Given the description of an element on the screen output the (x, y) to click on. 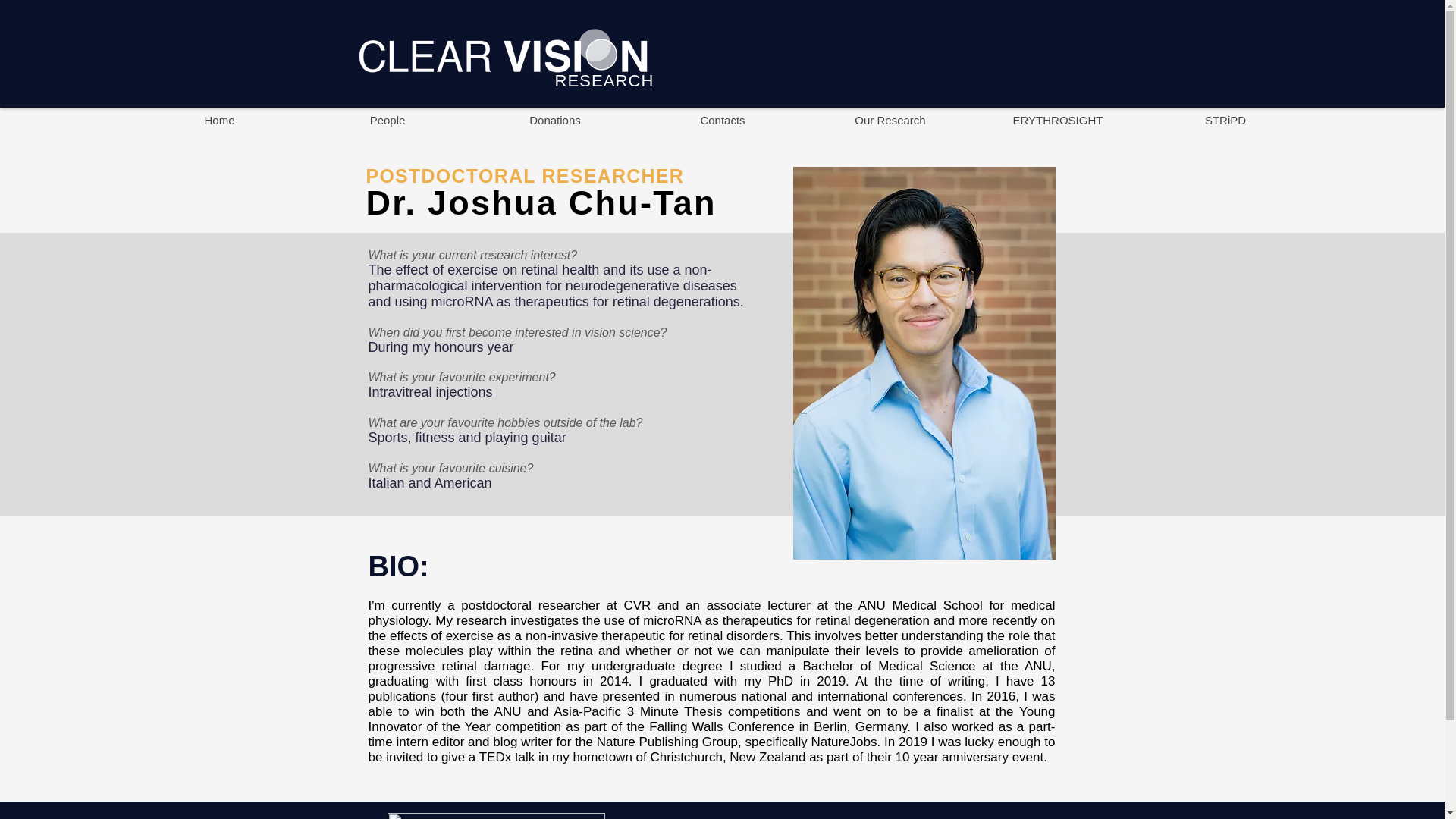
Home (218, 120)
Donations (554, 120)
People (386, 120)
Our Research (890, 120)
ERYTHROSIGHT (1057, 120)
STRiPD (1224, 120)
Contacts (722, 120)
